Given the description of an element on the screen output the (x, y) to click on. 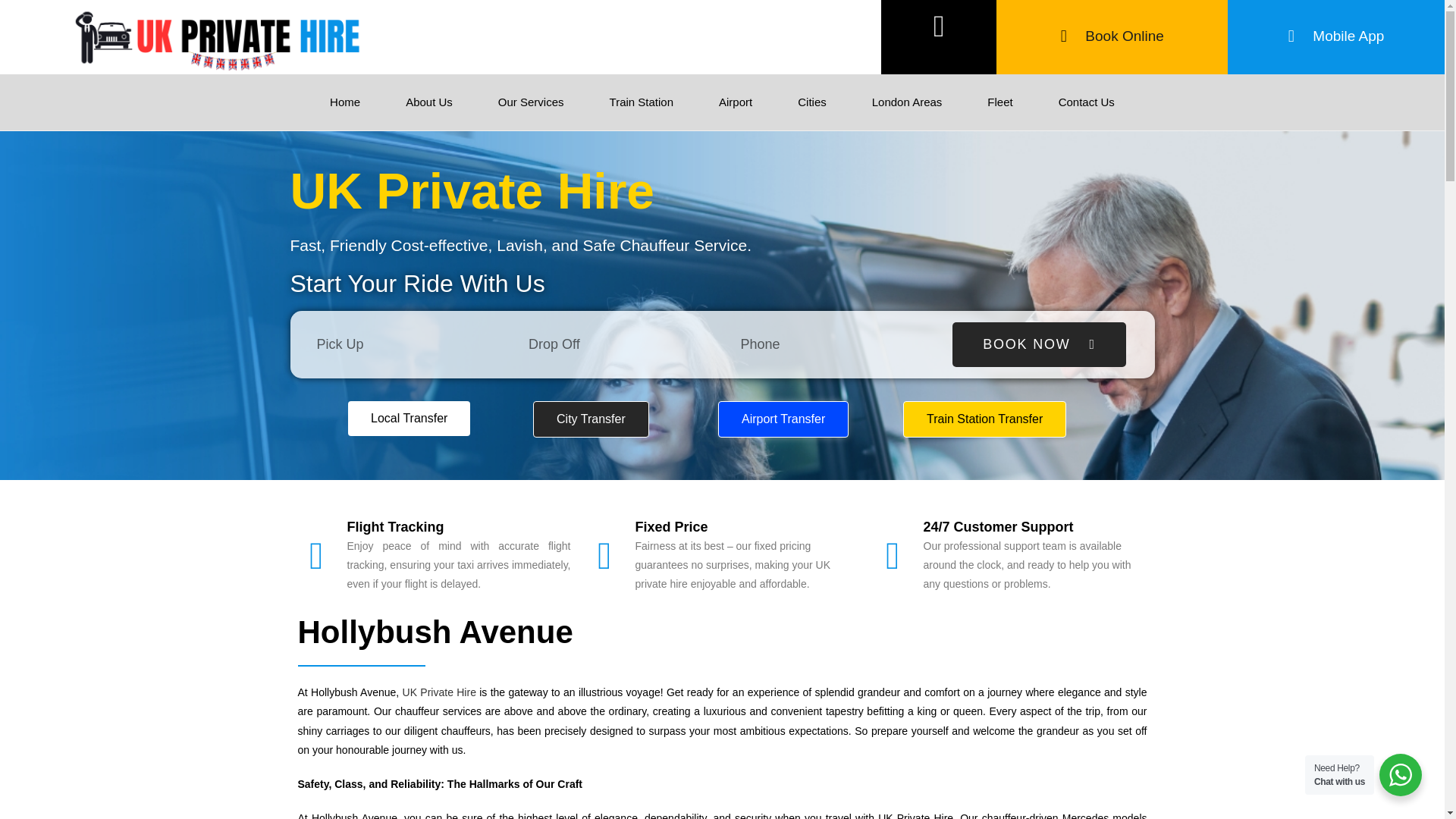
Airport (734, 102)
Contact Us (1086, 102)
Home (344, 102)
Fleet (999, 102)
Our Services (531, 102)
Book Online (1112, 36)
Cities (811, 102)
London Areas (906, 102)
Train Station (641, 102)
About Us (429, 102)
